Given the description of an element on the screen output the (x, y) to click on. 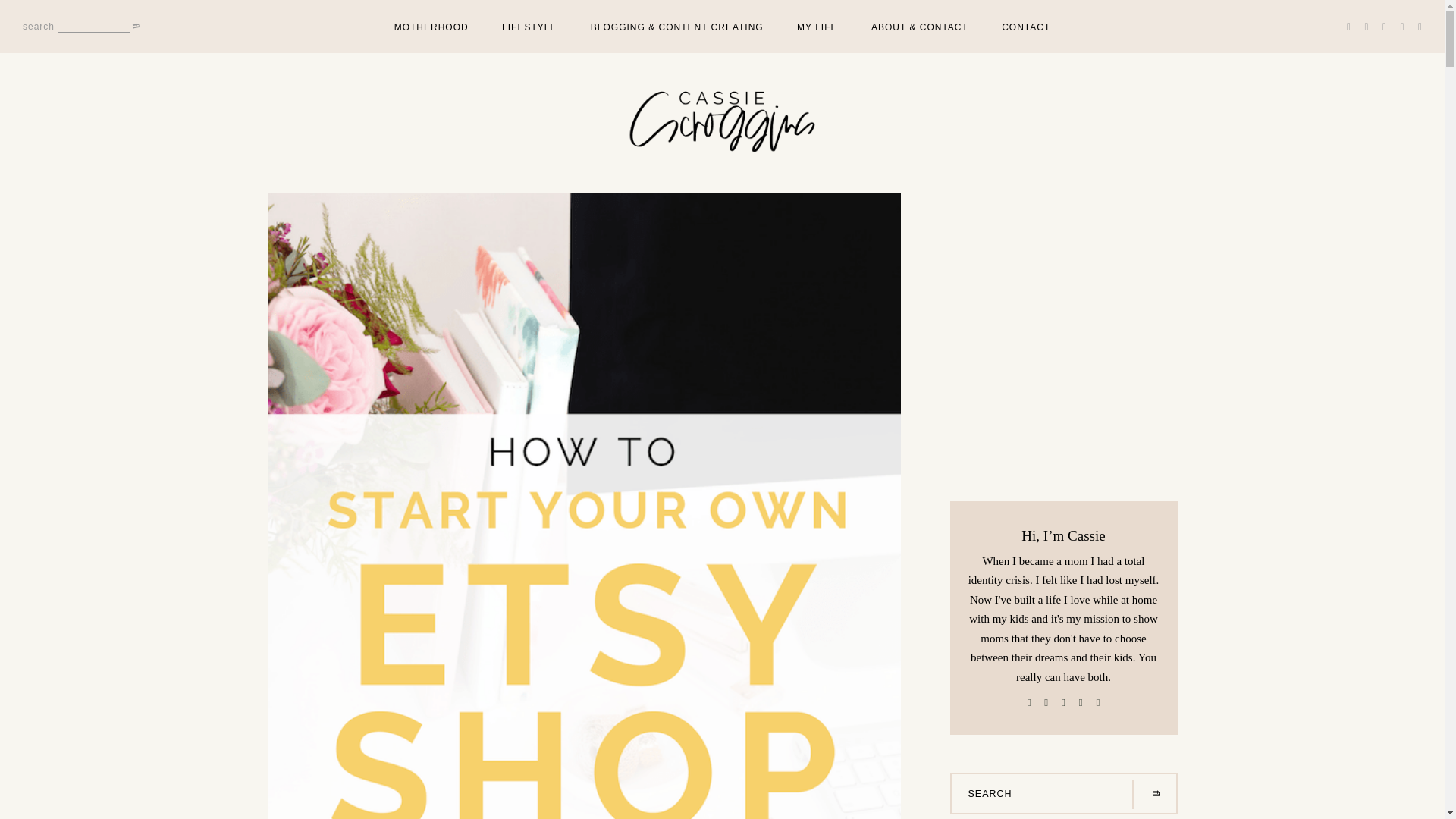
MOTHERHOOD (431, 26)
LIFESTYLE (529, 26)
